Given the description of an element on the screen output the (x, y) to click on. 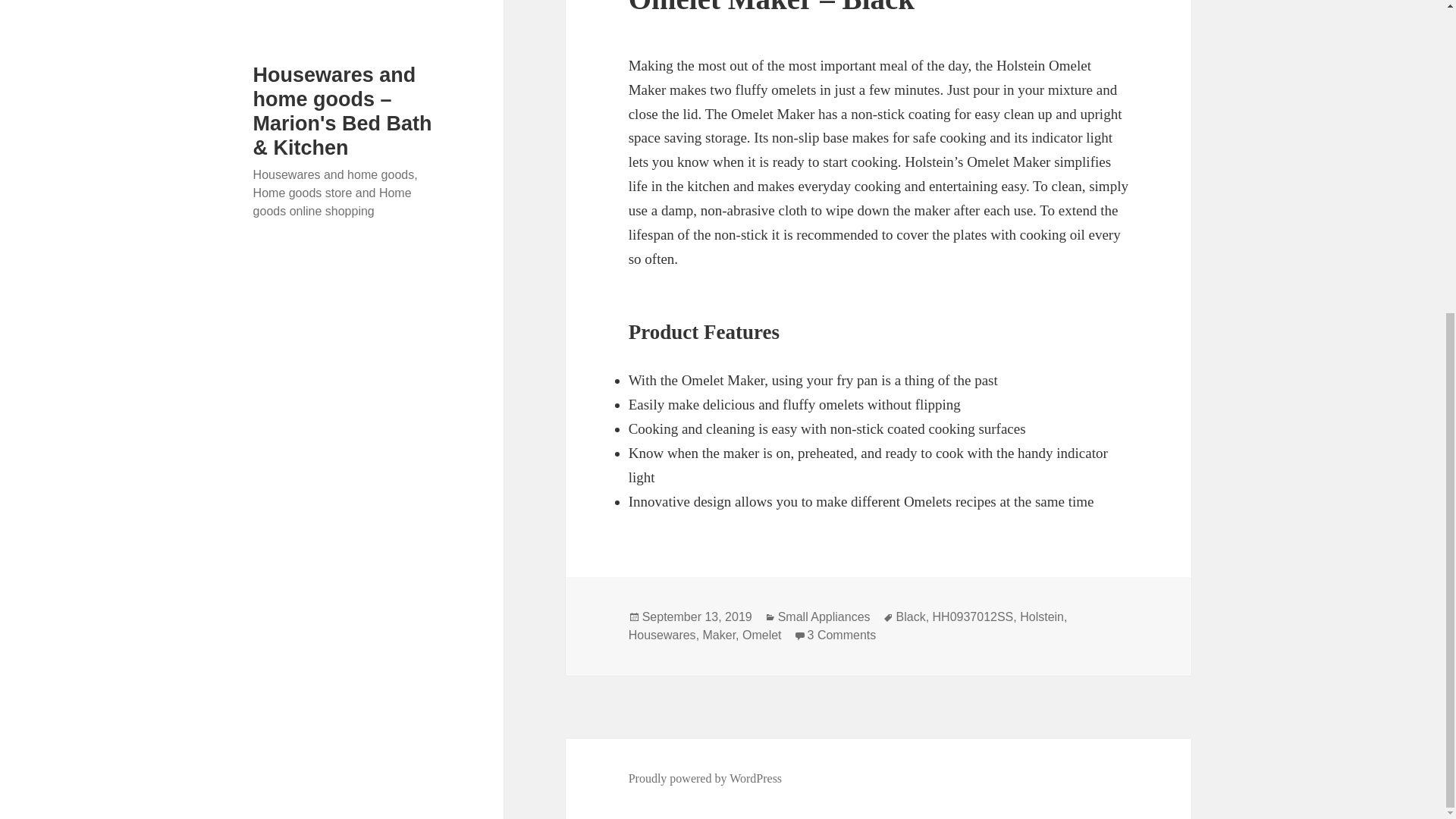
Omelet (761, 635)
Maker (719, 635)
Housewares (661, 635)
September 13, 2019 (697, 617)
HH0937012SS (973, 617)
Holstein (1042, 617)
Black (911, 617)
Small Appliances (823, 617)
Proudly powered by WordPress (704, 778)
